Given the description of an element on the screen output the (x, y) to click on. 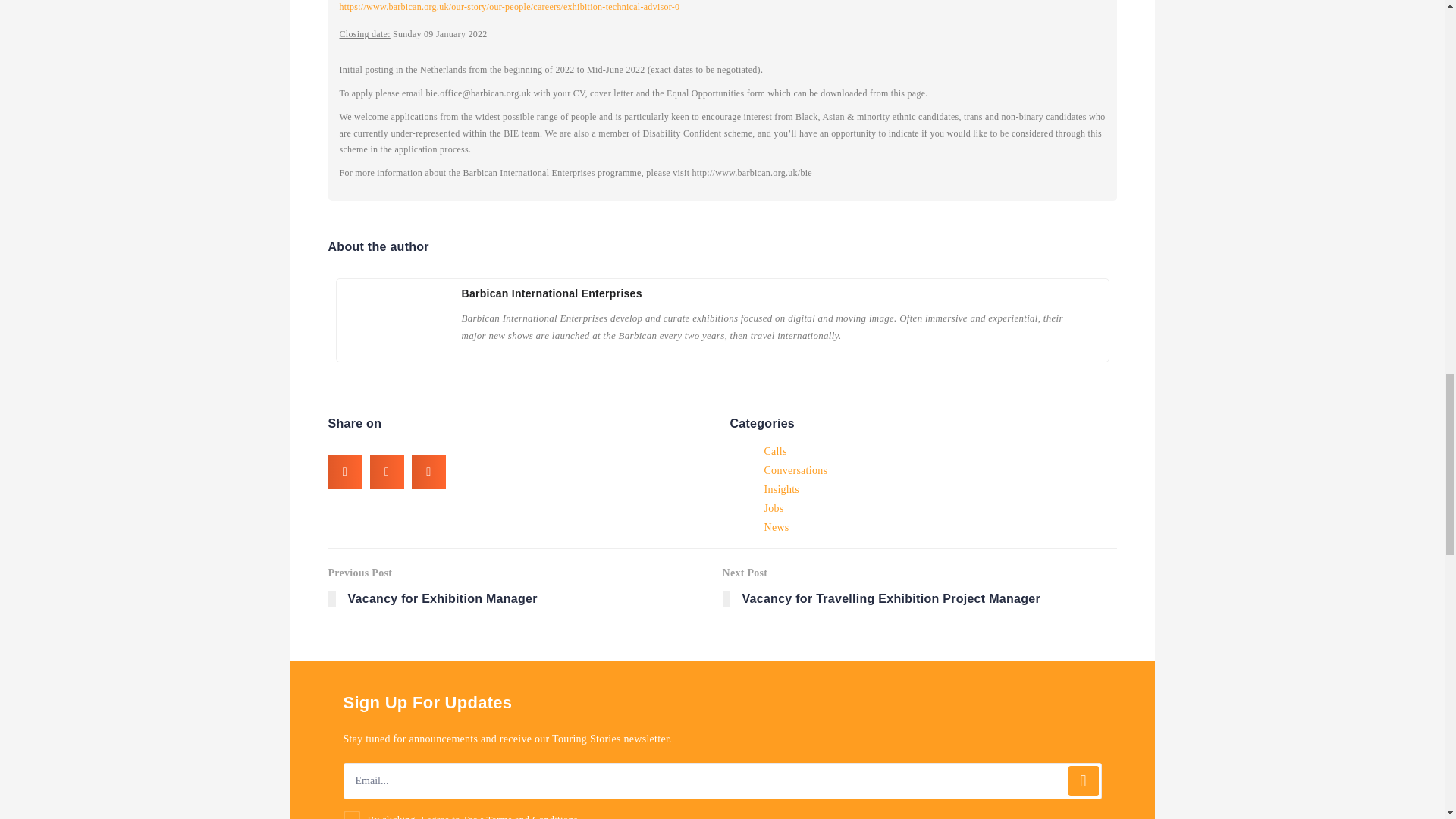
Conversations (795, 470)
Insights (919, 585)
Terms and Conditions (781, 489)
News (532, 816)
Calls (776, 527)
Jobs (524, 585)
Barbican International Enterprises (775, 451)
